Given the description of an element on the screen output the (x, y) to click on. 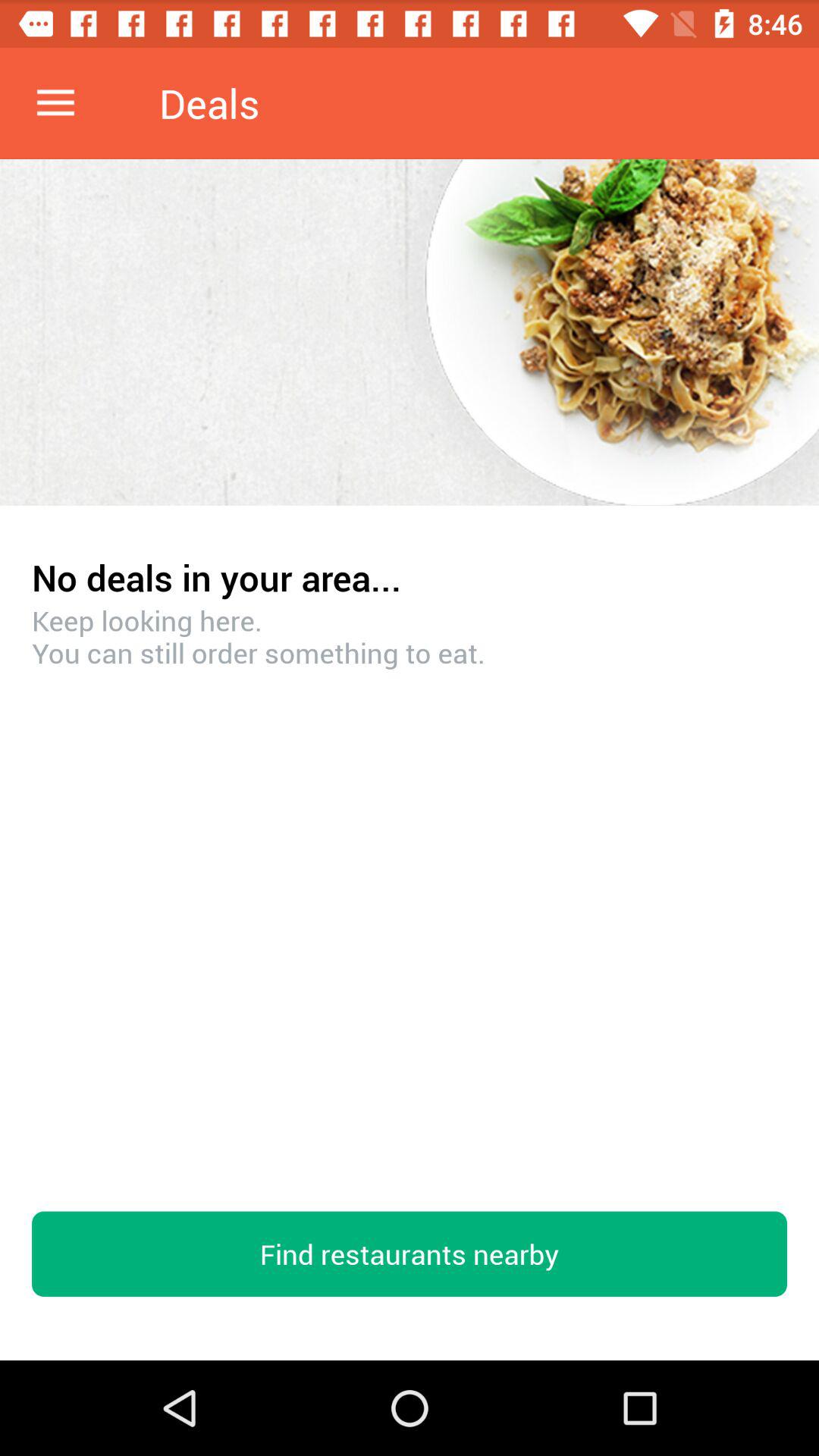
more options (55, 103)
